Given the description of an element on the screen output the (x, y) to click on. 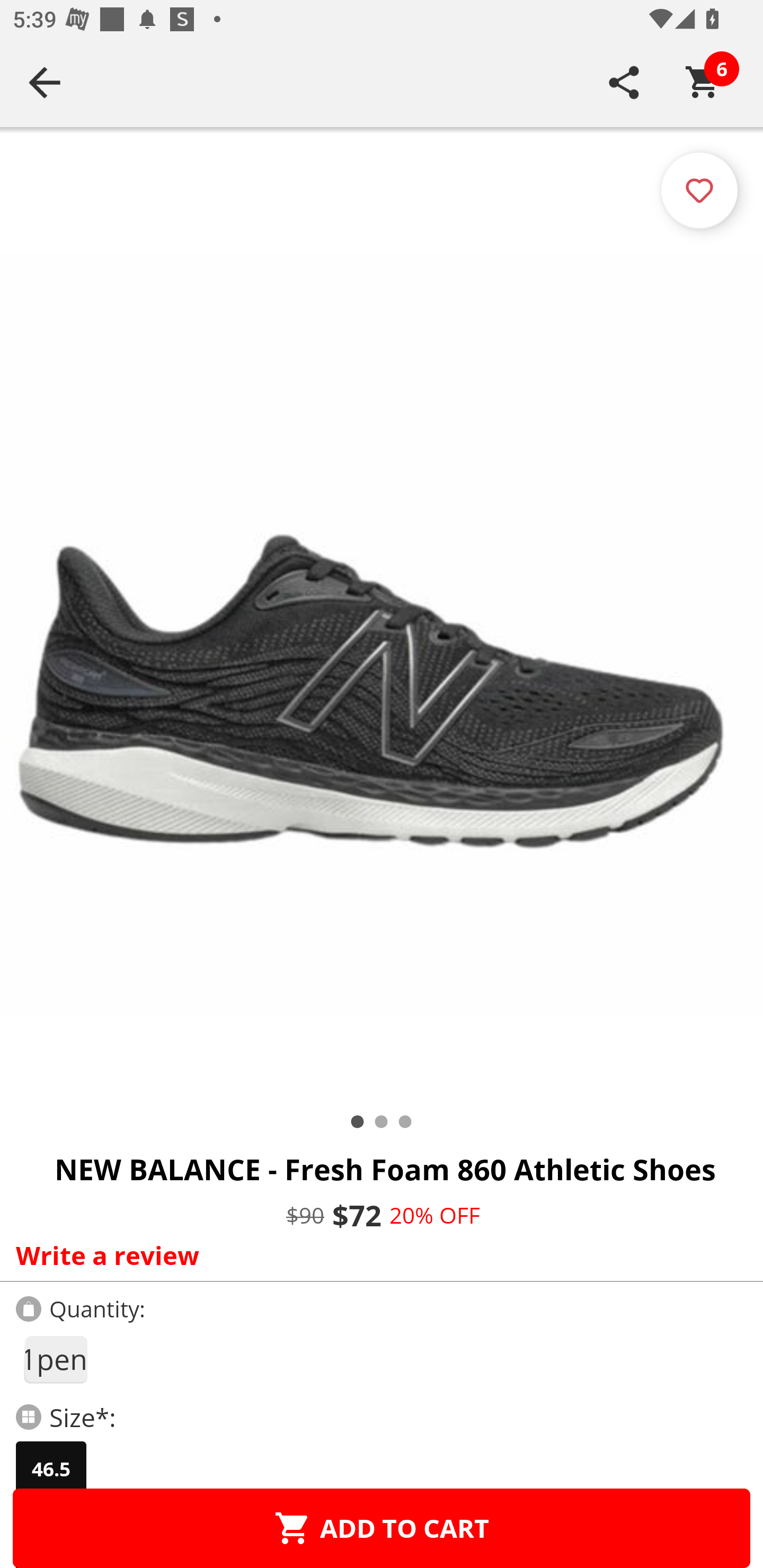
Navigate up (44, 82)
SHARE (623, 82)
Cart (703, 81)
Write a review (377, 1255)
1pen (55, 1358)
46.5 (51, 1468)
ADD TO CART (381, 1528)
